Given the description of an element on the screen output the (x, y) to click on. 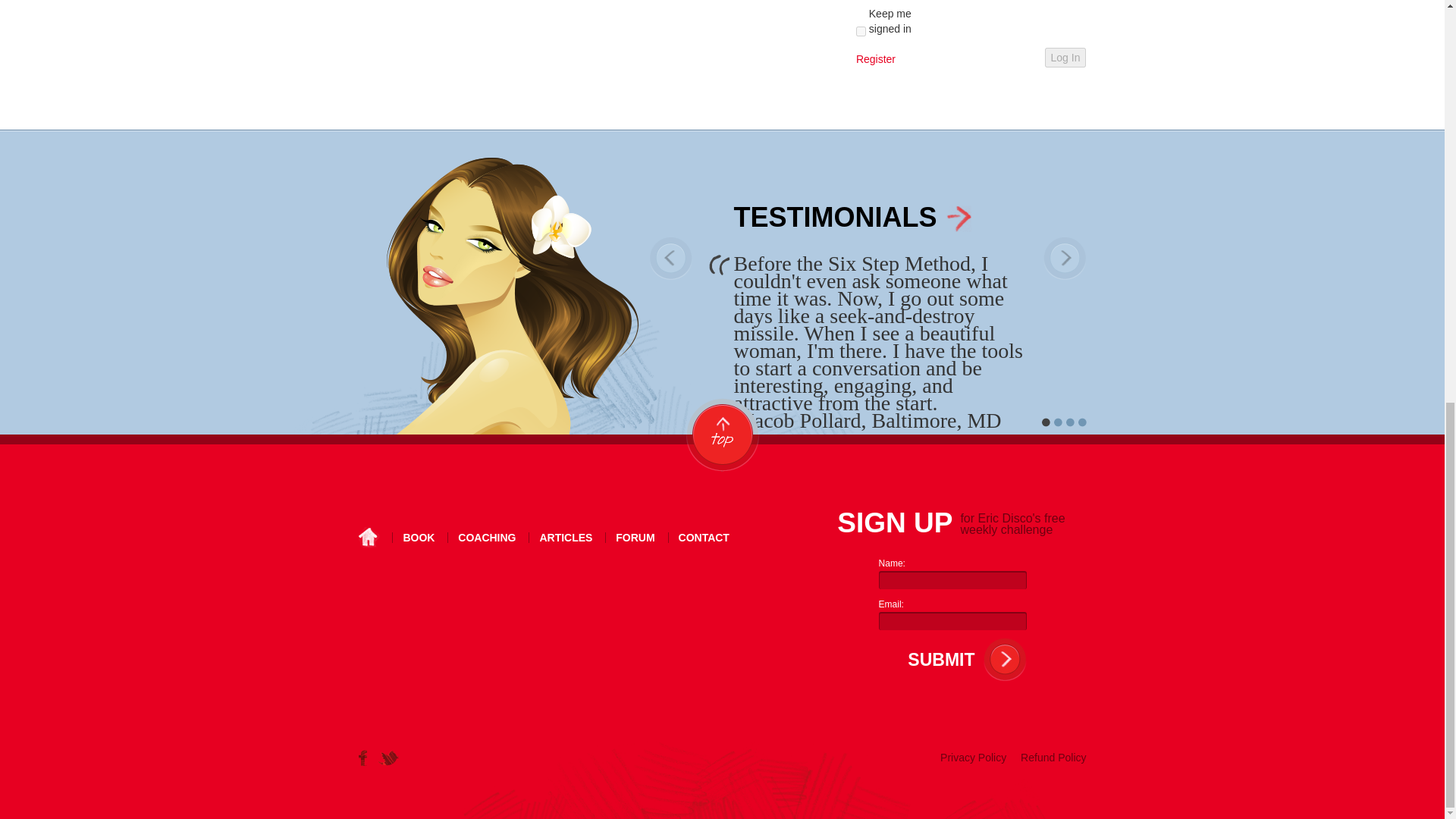
Log In (1065, 57)
Register (875, 58)
BOOK (418, 537)
CONTACT (703, 537)
Register (875, 58)
COACHING (486, 537)
forever (861, 31)
Submit (936, 659)
ARTICLES (565, 537)
FORUM (634, 537)
Submit (936, 659)
